Given the description of an element on the screen output the (x, y) to click on. 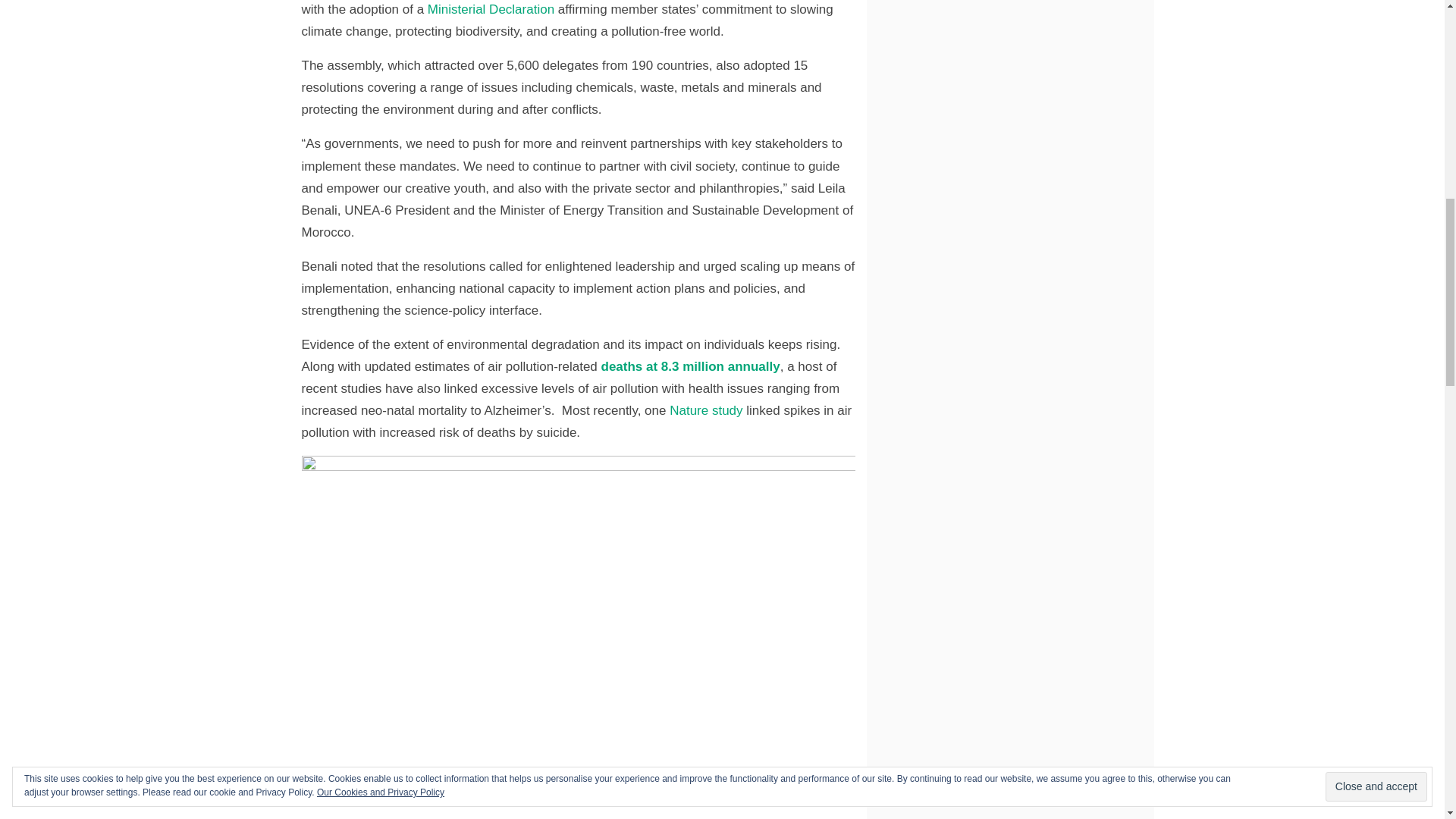
Ministerial Declaration (491, 9)
deaths at 8.3 million annually (690, 366)
Nature study (705, 410)
